Given the description of an element on the screen output the (x, y) to click on. 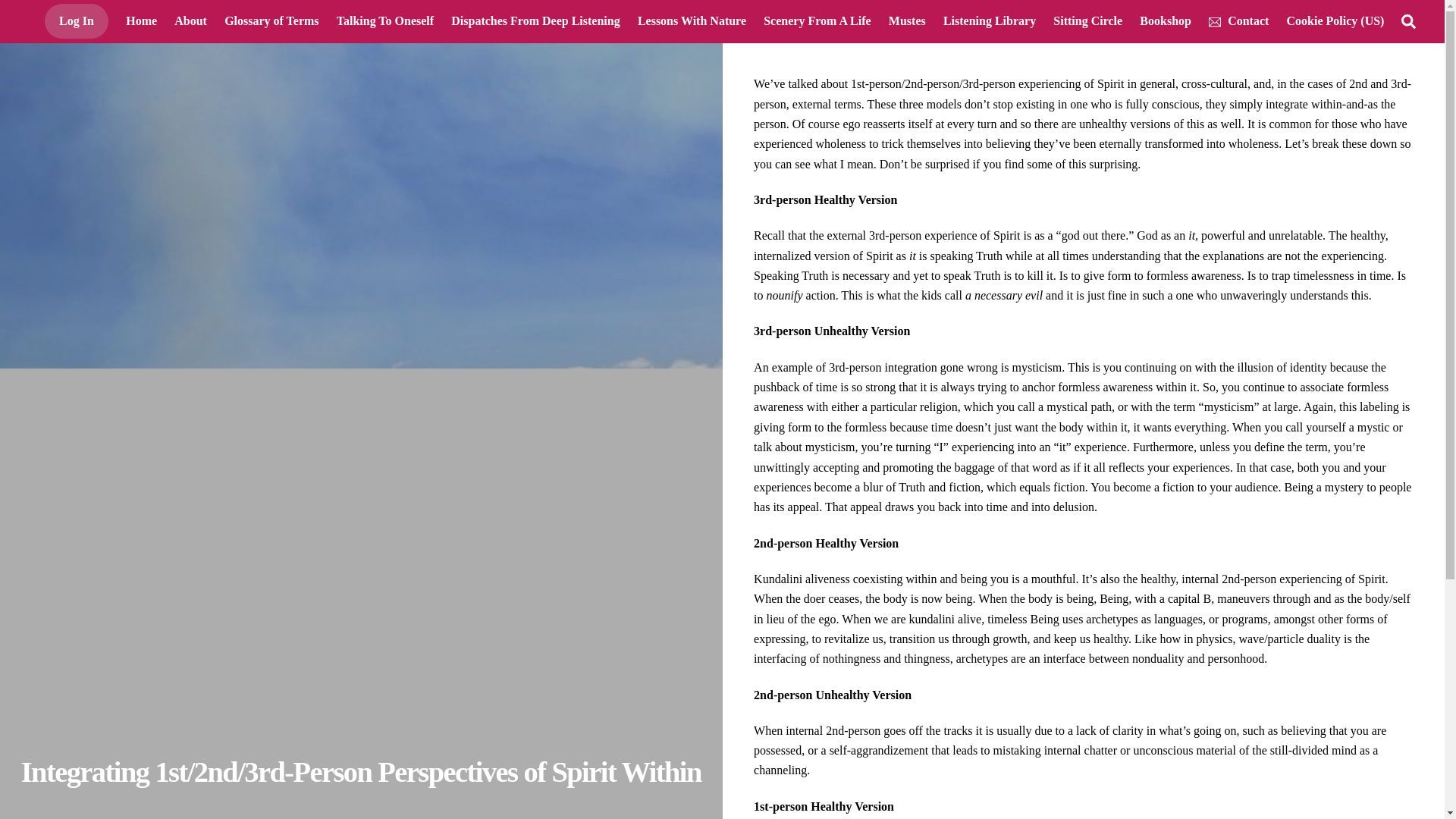
Log In (76, 21)
Scenery From A Life (818, 21)
Listening Library (989, 21)
Lessons With Nature (691, 21)
Dispatches From Deep Listening (535, 21)
Contact (1239, 21)
Sitting Circle (1087, 21)
Search (1408, 20)
Home (141, 21)
Mustes (906, 21)
